Given the description of an element on the screen output the (x, y) to click on. 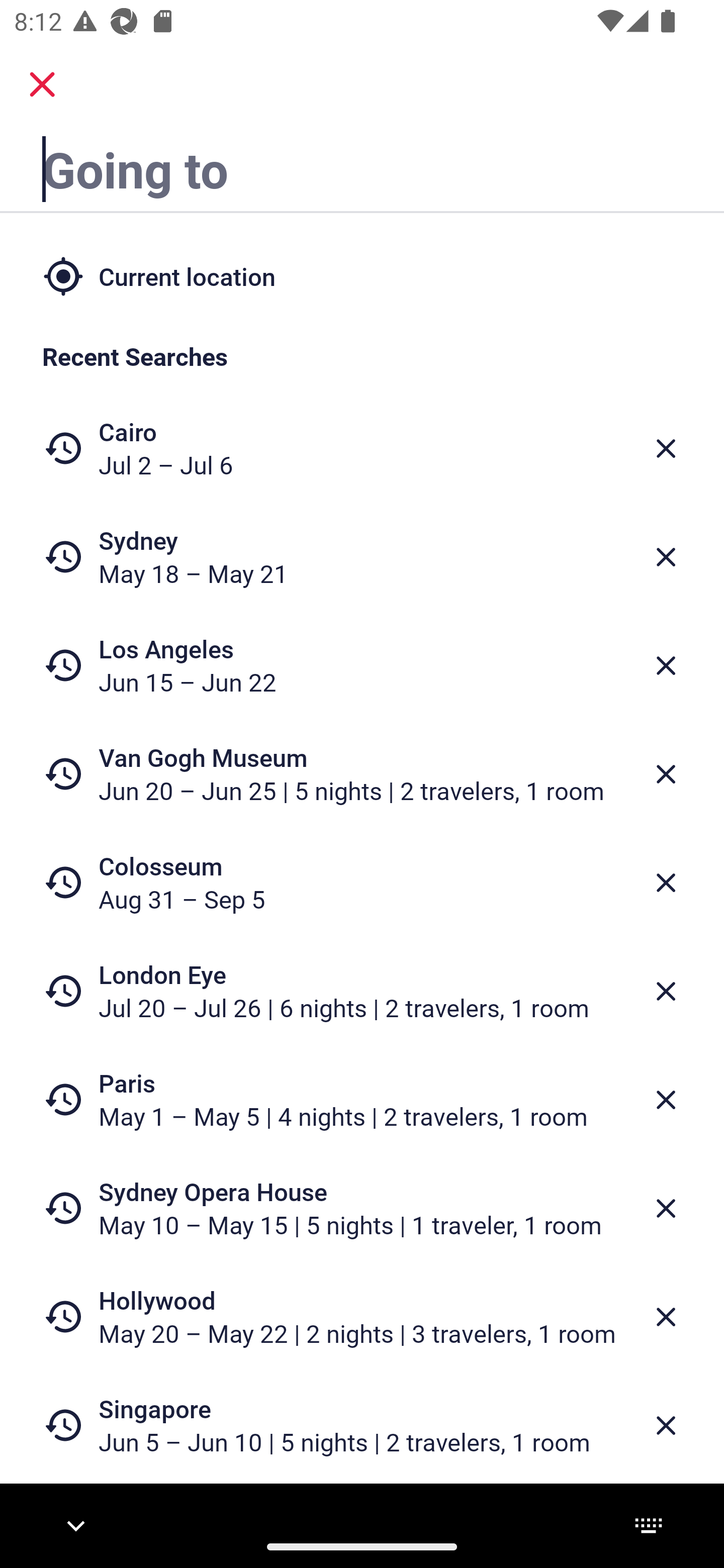
close. (42, 84)
Current location (362, 275)
Cairo Jul 2 – Jul 6 (362, 448)
Delete from recent searches (666, 448)
Sydney May 18 – May 21 (362, 557)
Delete from recent searches (666, 556)
Los Angeles Jun 15 – Jun 22 (362, 665)
Delete from recent searches (666, 666)
Delete from recent searches (666, 774)
Colosseum Aug 31 – Sep 5 (362, 881)
Delete from recent searches (666, 882)
Delete from recent searches (666, 990)
Delete from recent searches (666, 1100)
Delete from recent searches (666, 1208)
Delete from recent searches (666, 1316)
Delete from recent searches (666, 1424)
